Given the description of an element on the screen output the (x, y) to click on. 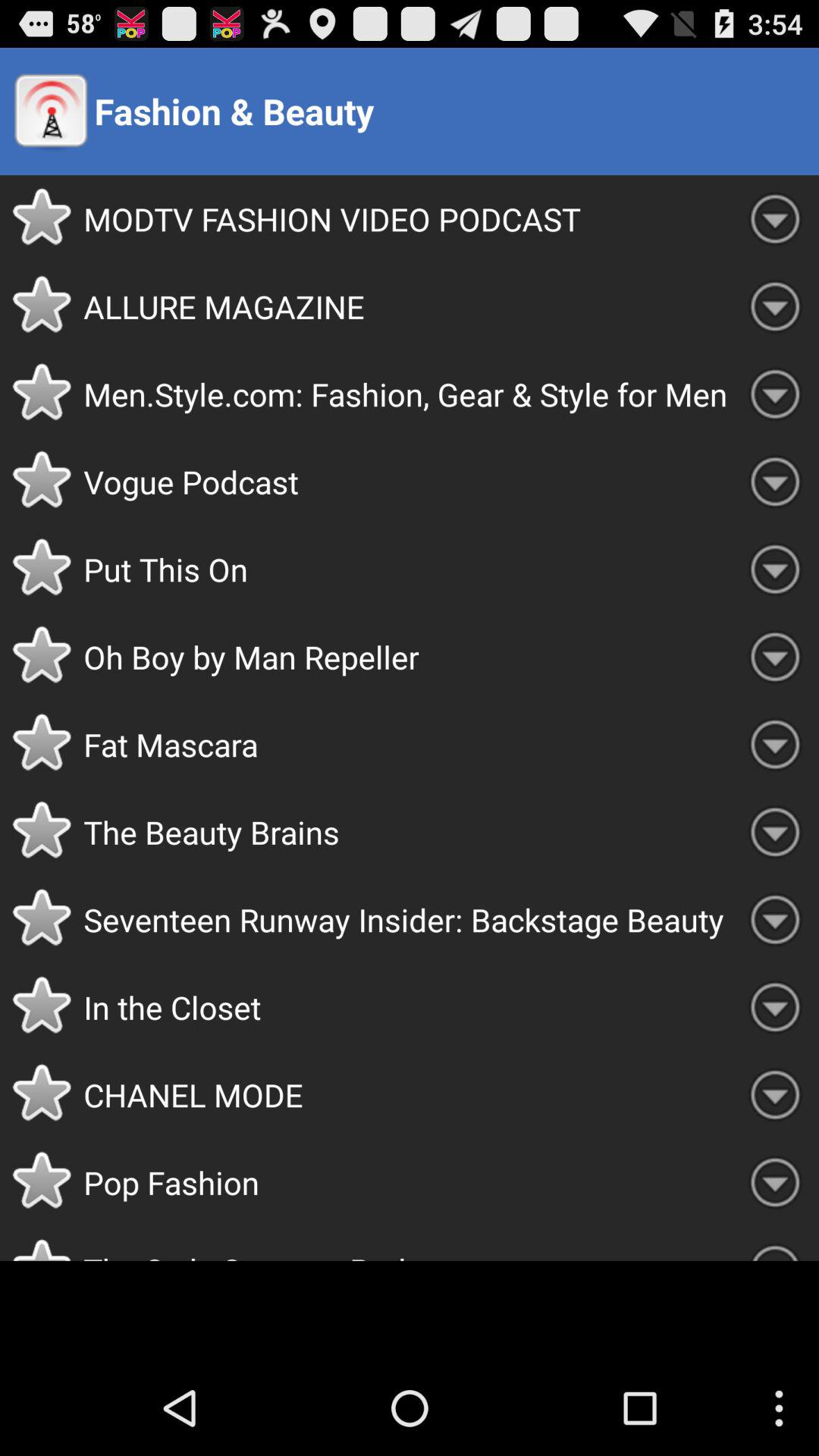
turn off the vogue podcast app (407, 481)
